Given the description of an element on the screen output the (x, y) to click on. 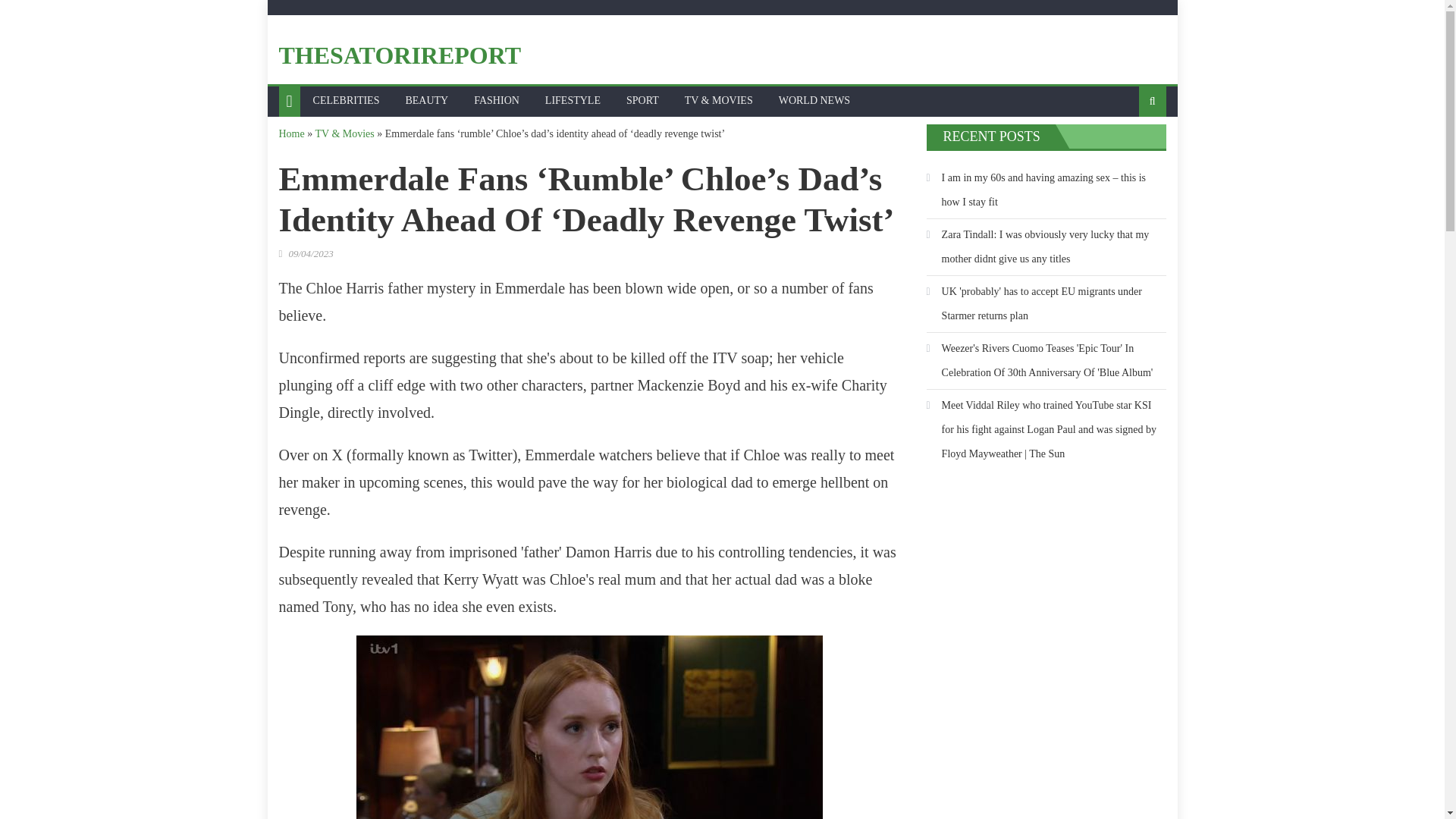
Search (1128, 150)
FASHION (497, 100)
Home (291, 133)
CELEBRITIES (346, 100)
WORLD NEWS (814, 100)
LIFESTYLE (572, 100)
BEAUTY (426, 100)
SPORT (641, 100)
THESATORIREPORT (400, 54)
